Given the description of an element on the screen output the (x, y) to click on. 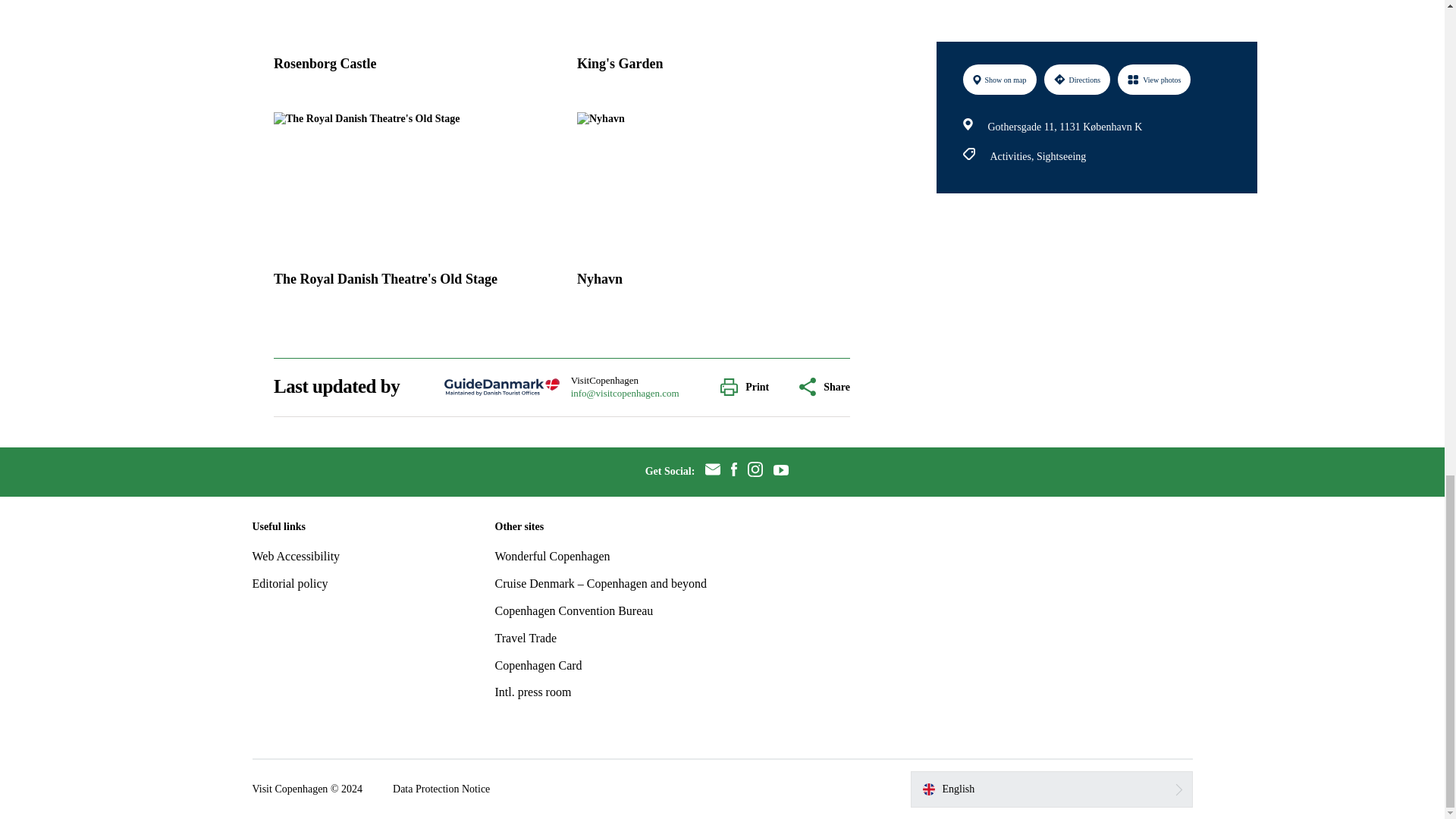
Editorial policy (289, 583)
Copenhagen Card (537, 665)
Copenhagen Convention Bureau (573, 610)
newsletter (712, 471)
The Royal Danish Theatre's Old Stage (410, 204)
Copenhagen Card (537, 665)
instagram (755, 471)
Travel Trade (525, 637)
Web Accessibility (295, 555)
Wonderful Copenhagen (552, 555)
